Given the description of an element on the screen output the (x, y) to click on. 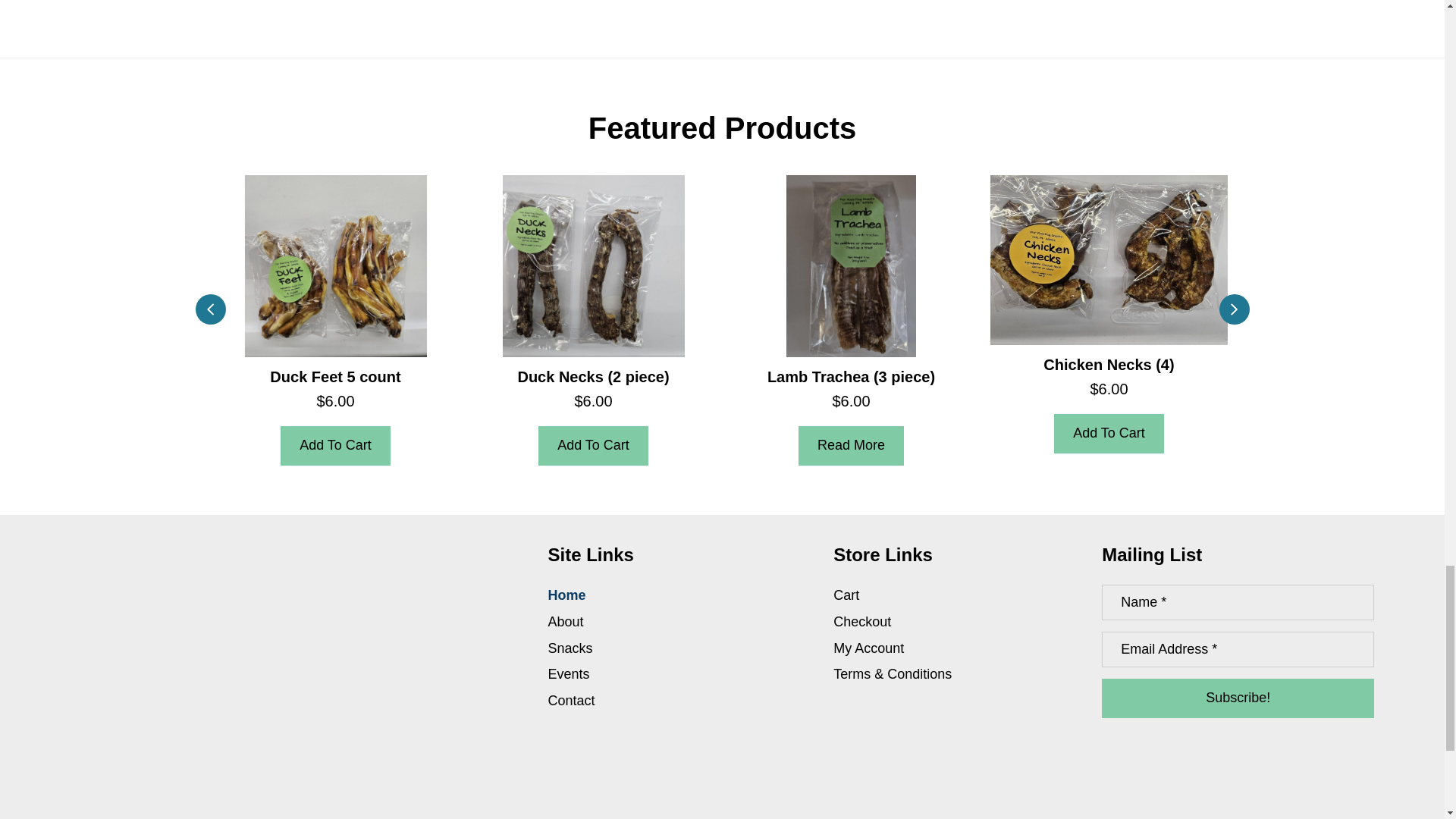
duck feet (335, 266)
Read More (850, 445)
Add To Cart (1108, 433)
Add To Cart (592, 445)
Add To Cart (335, 445)
